Given the description of an element on the screen output the (x, y) to click on. 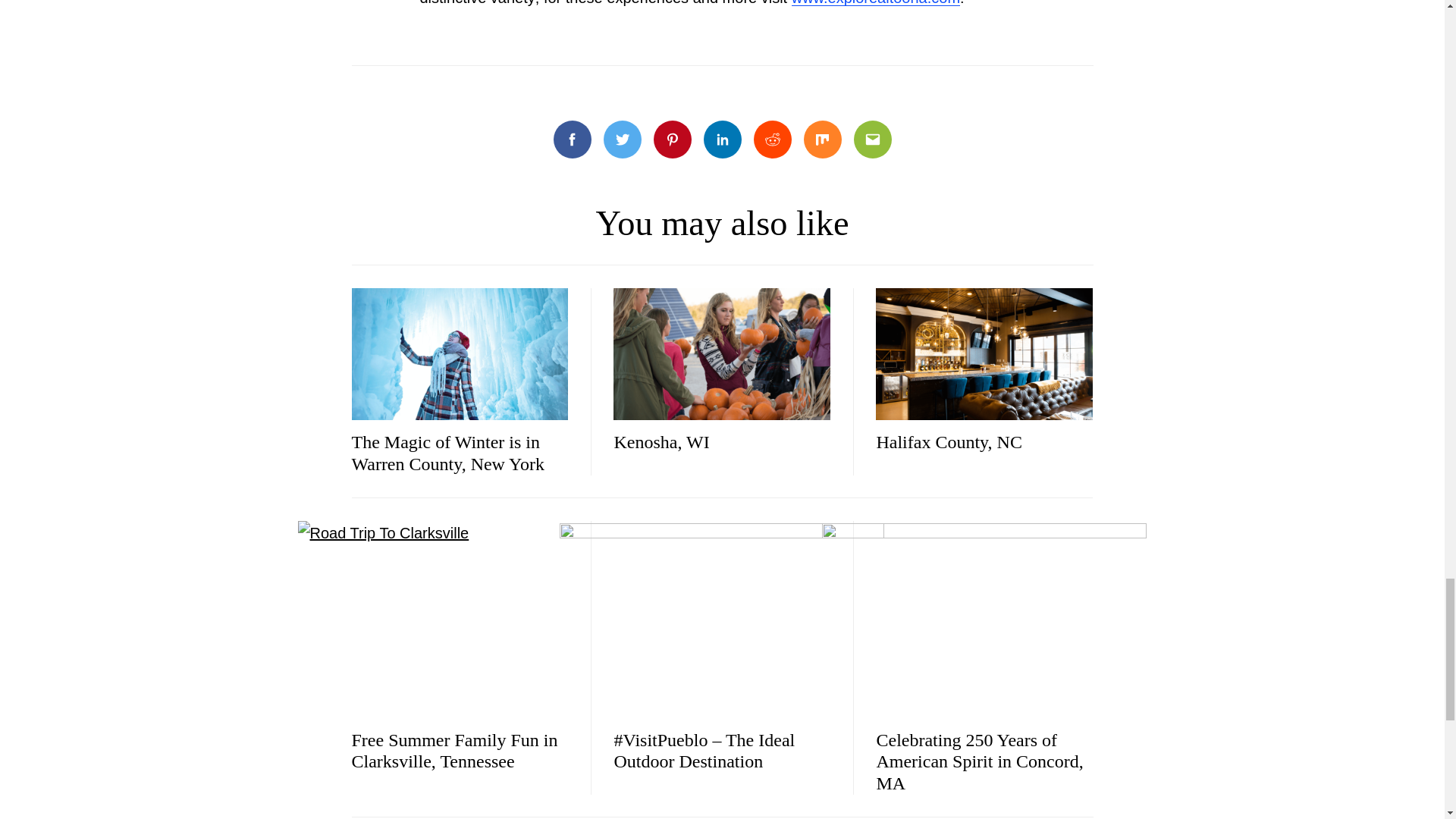
Reddit (773, 139)
Celebrating 250 Years of American Spirit in Concord, MA (979, 761)
Linkedin (722, 139)
Facebook (572, 139)
Free Summer Family Fun in Clarksville, Tennessee (454, 751)
Mix (822, 139)
Pinterest (672, 139)
www.explorealtoona.com (875, 2)
Halifax County, NC (949, 442)
Email (872, 139)
Kenosha, WI (660, 442)
Twitter (623, 139)
The Magic of Winter is in Warren County, New York (448, 453)
